Given the description of an element on the screen output the (x, y) to click on. 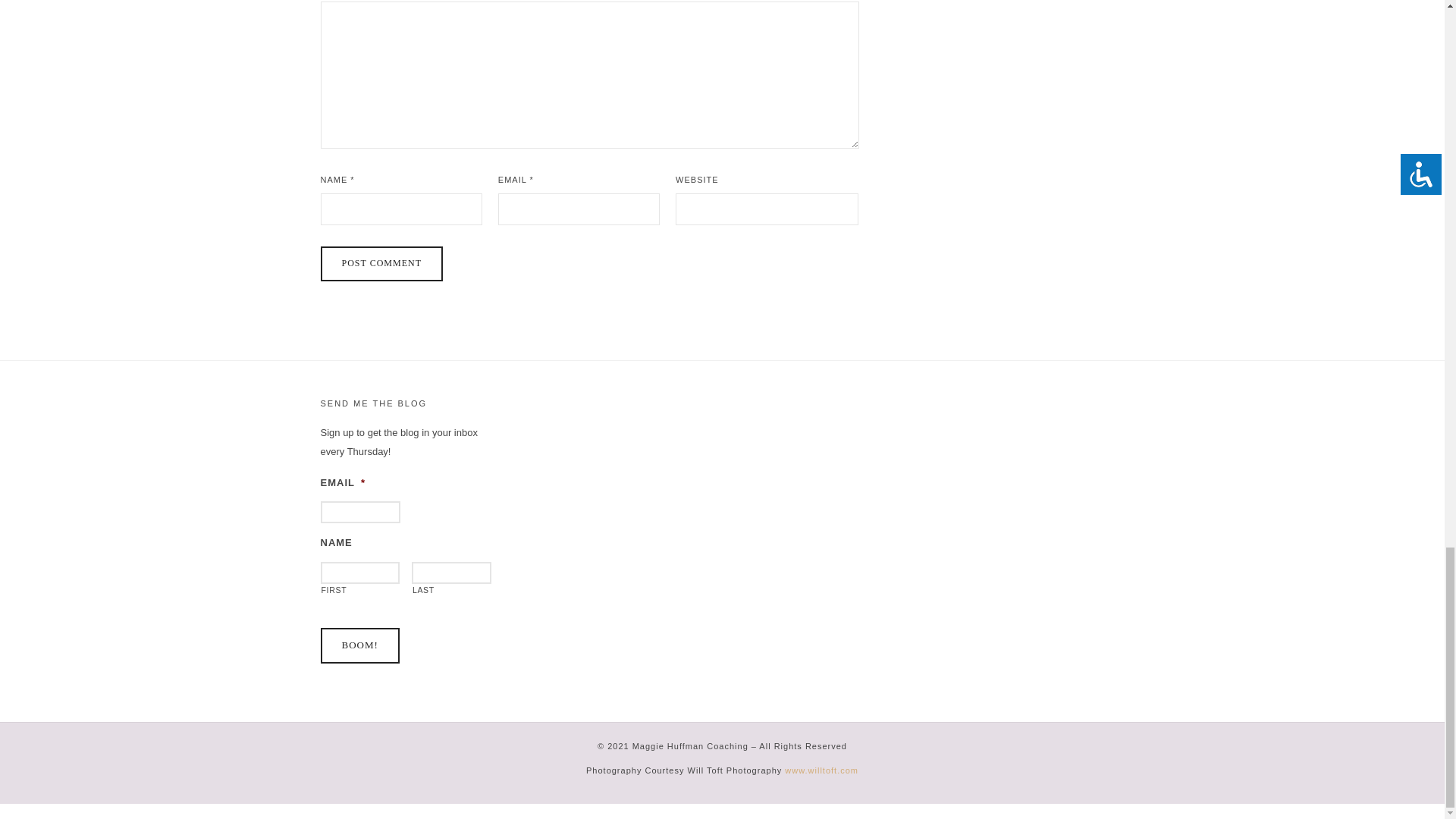
Post Comment (381, 263)
Boom! (359, 645)
